Given the description of an element on the screen output the (x, y) to click on. 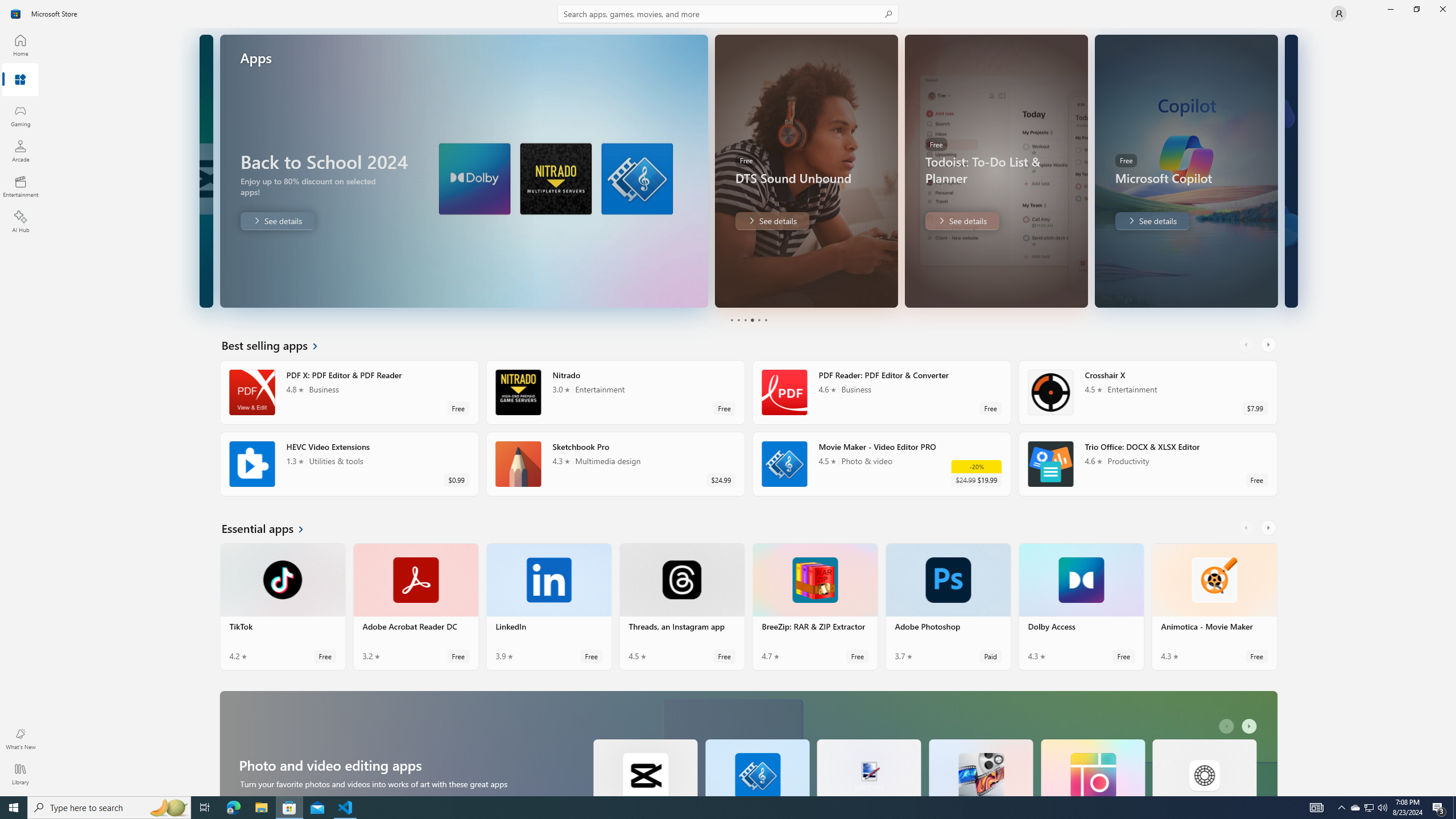
AutomationID: Image (1290, 170)
CapCut. Average rating of 4.7 out of five stars. Free   (644, 767)
Page 6 (764, 319)
Page 5 (758, 319)
See all  Essential apps (269, 527)
Pic Collage. Average rating of 4.8 out of five stars. Free   (1092, 767)
AI Hub (20, 221)
TikTok. Average rating of 4.2 out of five stars. Free   (282, 606)
Home (20, 45)
